Given the description of an element on the screen output the (x, y) to click on. 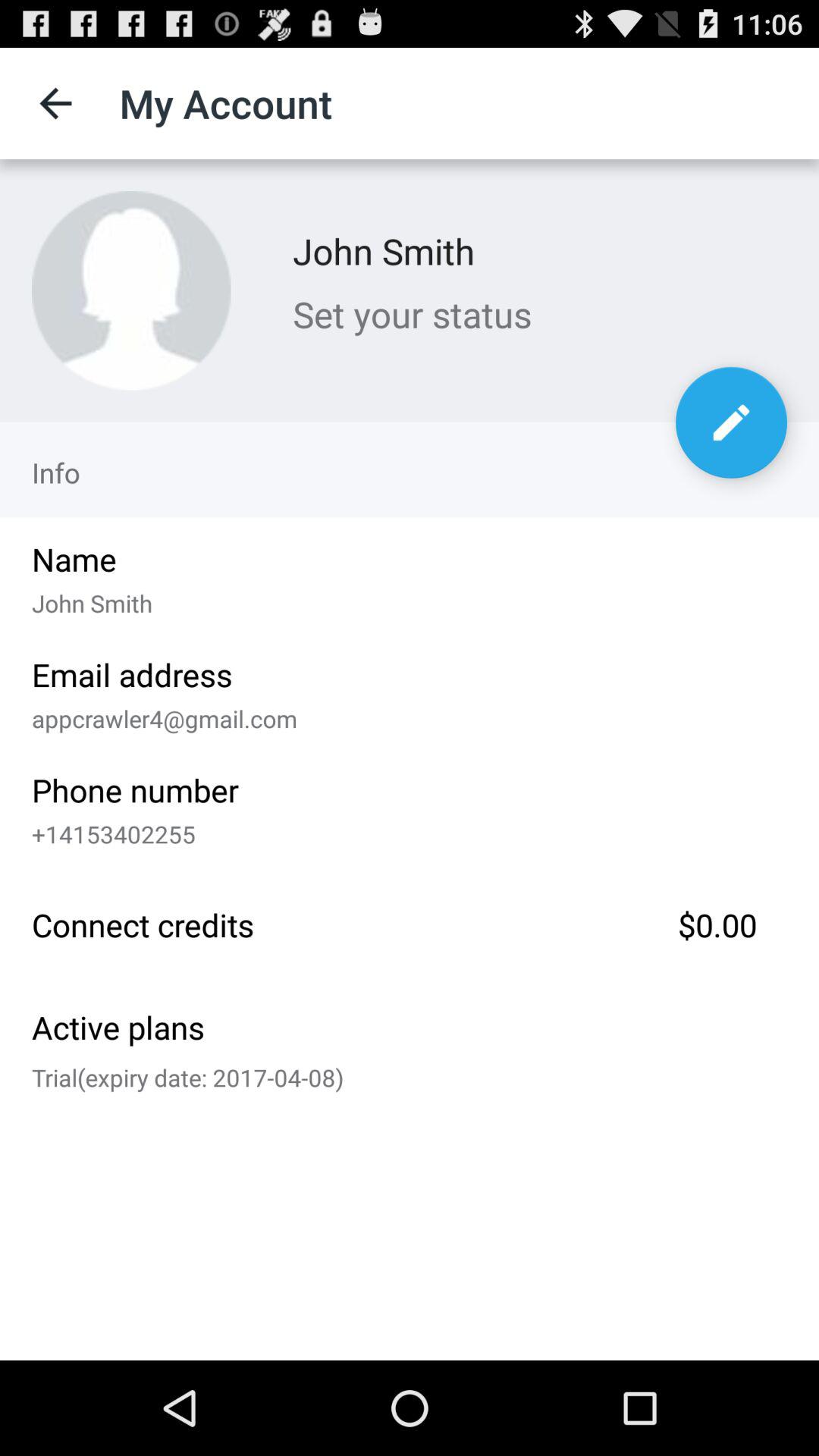
tap icon below phone number icon (403, 830)
